Given the description of an element on the screen output the (x, y) to click on. 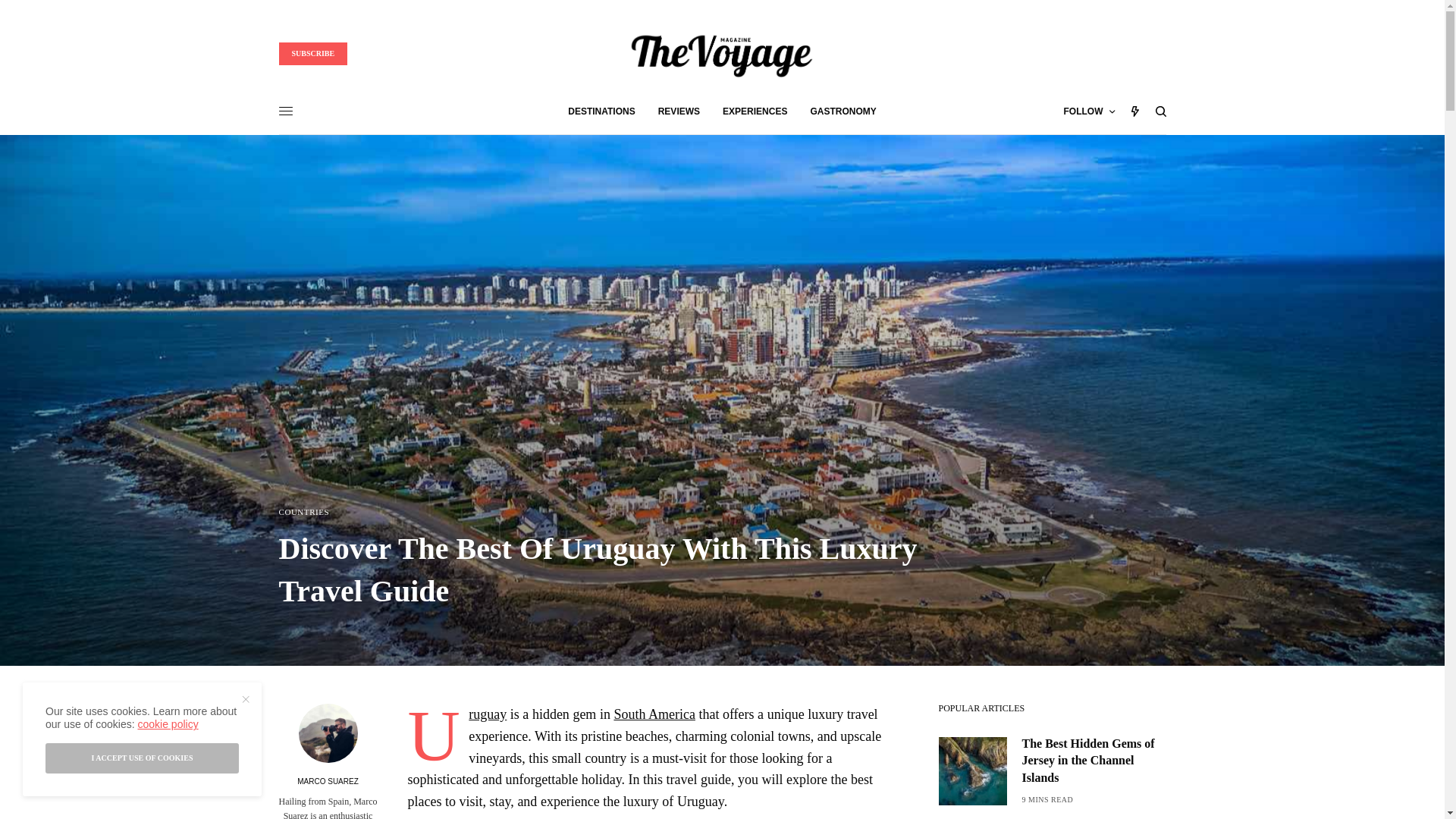
DESTINATIONS (600, 111)
COUNTRIES (304, 511)
SUBSCRIBE (313, 53)
South America (653, 713)
Uruguay (487, 713)
REVIEWS (679, 111)
The Voyage Magazine (721, 53)
GASTRONOMY (842, 111)
MARCO SUAREZ (328, 781)
Uruguay (487, 713)
FOLLOW (1089, 111)
South America (653, 713)
EXPERIENCES (754, 111)
